Given the description of an element on the screen output the (x, y) to click on. 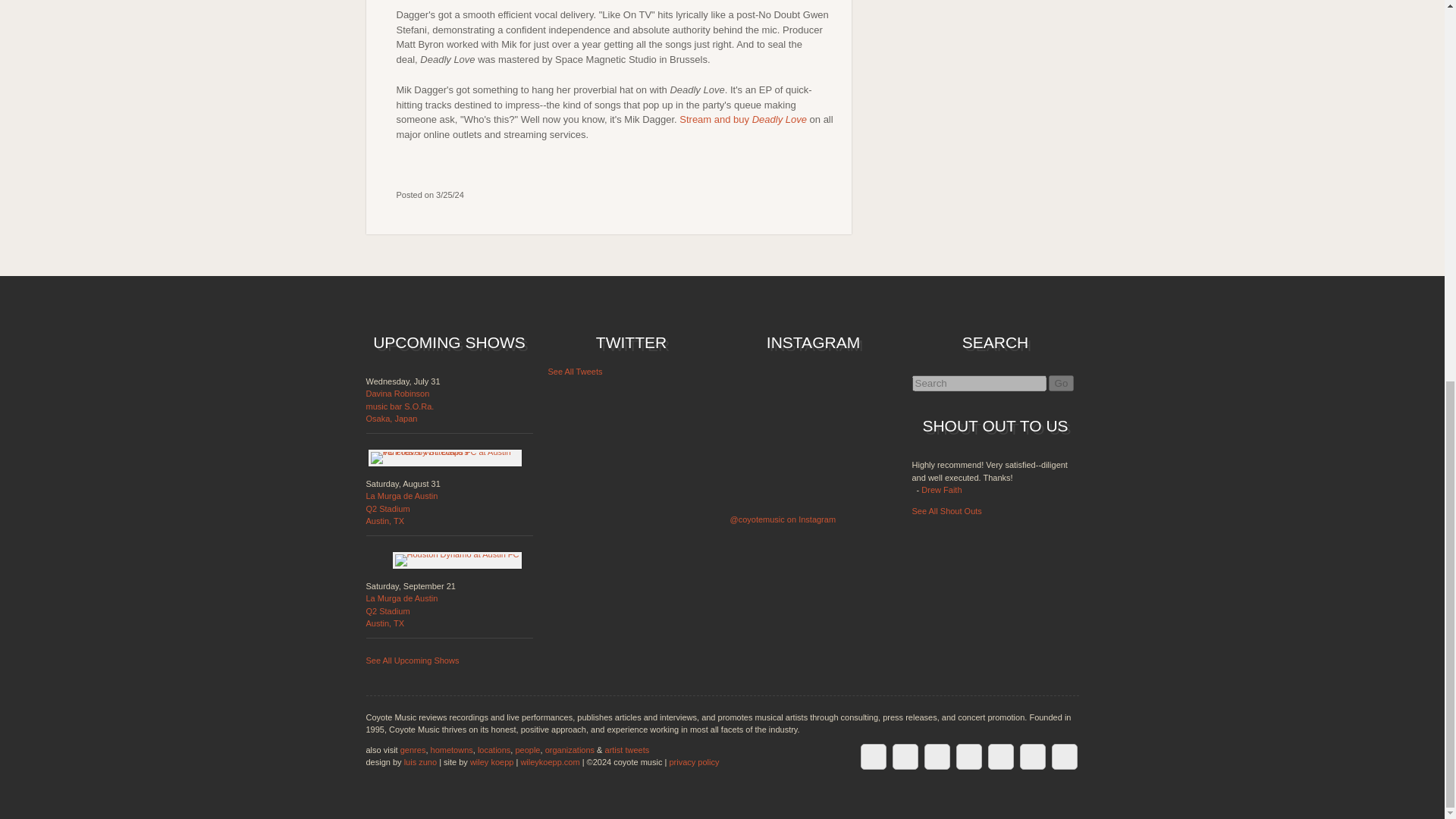
See All Tweets (574, 370)
Coyote Music on YouTube (1032, 755)
locations (494, 748)
Go (1061, 383)
hometowns (451, 748)
Follow Coyote Music on LinkedIn (936, 755)
Coyote Music on Instagram (968, 755)
Stream and buy Deadly Love (742, 119)
Become a fan of Coyote Music (904, 755)
Coyote Music on TikTok (1000, 755)
Check out my Gigs on Fiverr (401, 508)
Follow Coyote Music's tweets (1064, 755)
people (872, 755)
